Given the description of an element on the screen output the (x, y) to click on. 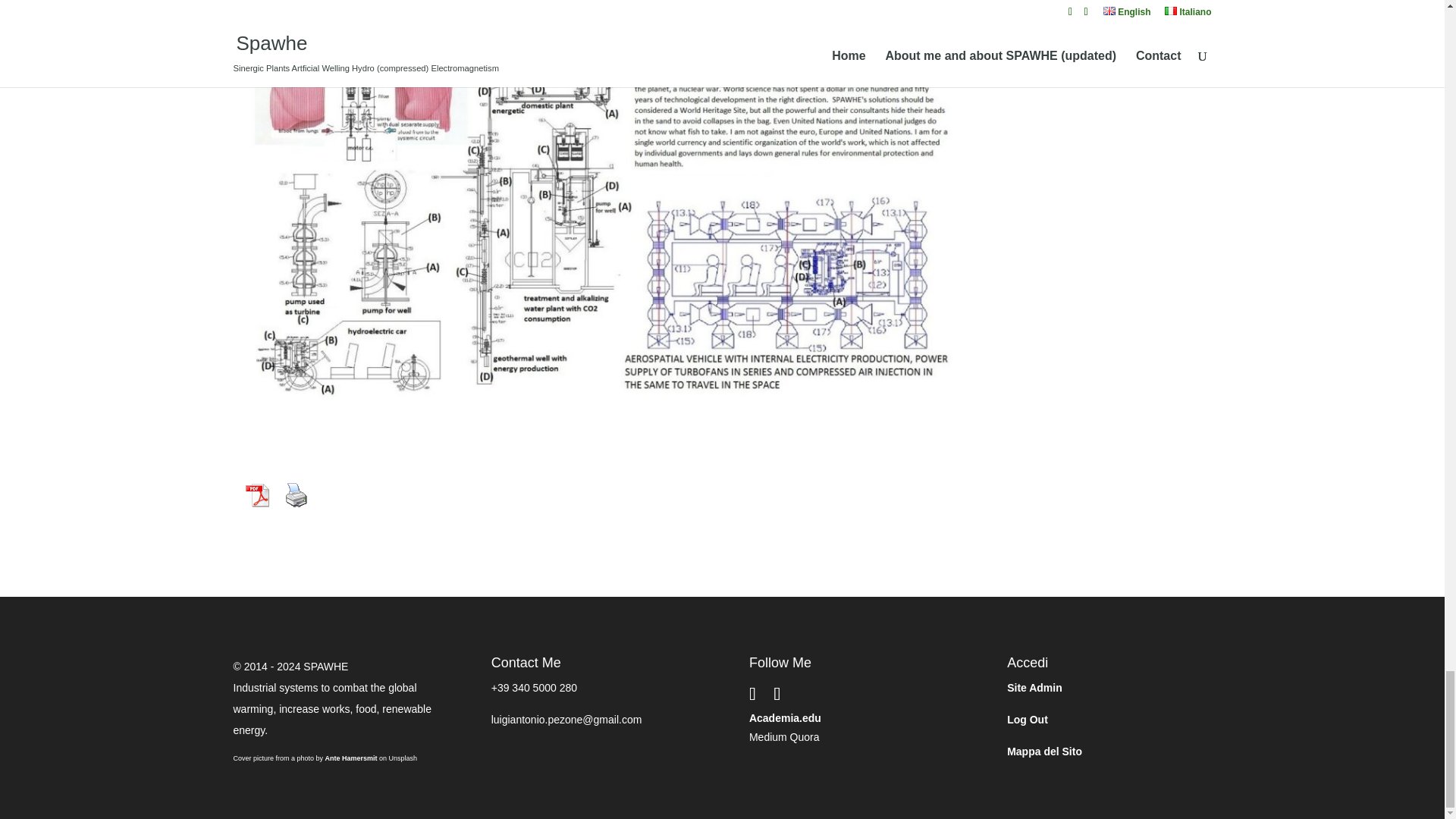
Site Admin (1034, 687)
Mappa del Sito (1044, 751)
Academia.edu (785, 717)
Download PDF (257, 495)
Ante Hamersmit (350, 758)
Log Out (1027, 719)
Print Content (297, 495)
